Given the description of an element on the screen output the (x, y) to click on. 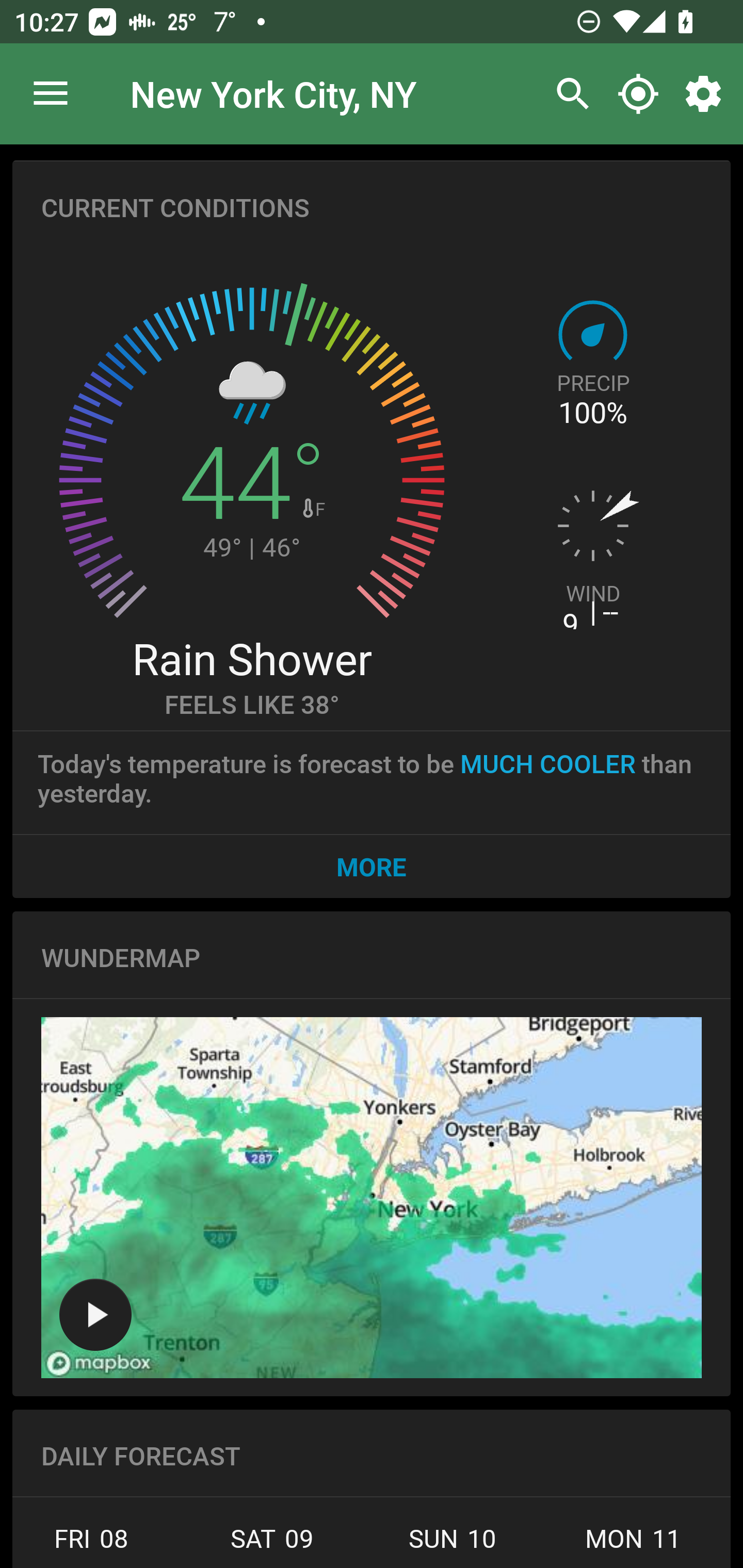
Press to open location manager. (50, 93)
Search for location (567, 94)
Select GPS location (637, 94)
Settings (706, 94)
New York City, NY (273, 92)
100% (592, 412)
Rain Shower (251, 657)
MORE (371, 865)
Weather Map (371, 1197)
Weather Map (95, 1314)
FRI 08 (96, 1544)
SAT 09 (271, 1544)
SUN 10 (452, 1544)
MON 11 (633, 1544)
